Given the description of an element on the screen output the (x, y) to click on. 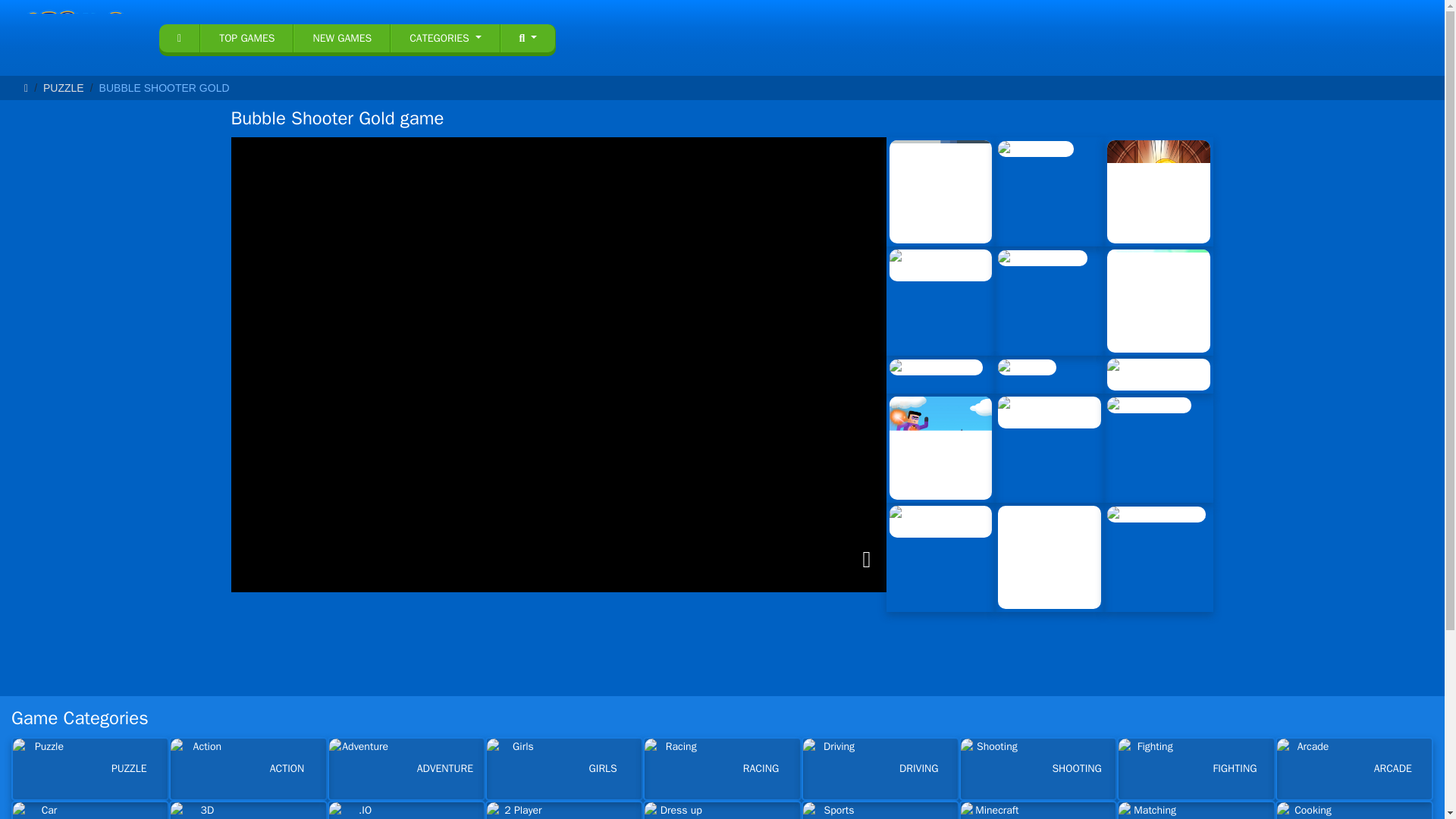
Hexa Tile Master (1157, 300)
Block Puzzle Cats (935, 367)
Huggy Wuggy Guess the right door (1048, 412)
Action (247, 768)
Join Clash Color Button (1157, 374)
Puzzle lub (1027, 367)
Emoji Guru - Guess by Picture (939, 521)
Unpuzzle Master (1041, 258)
Puzzle (43, 768)
TOP GAMES (246, 38)
